Given the description of an element on the screen output the (x, y) to click on. 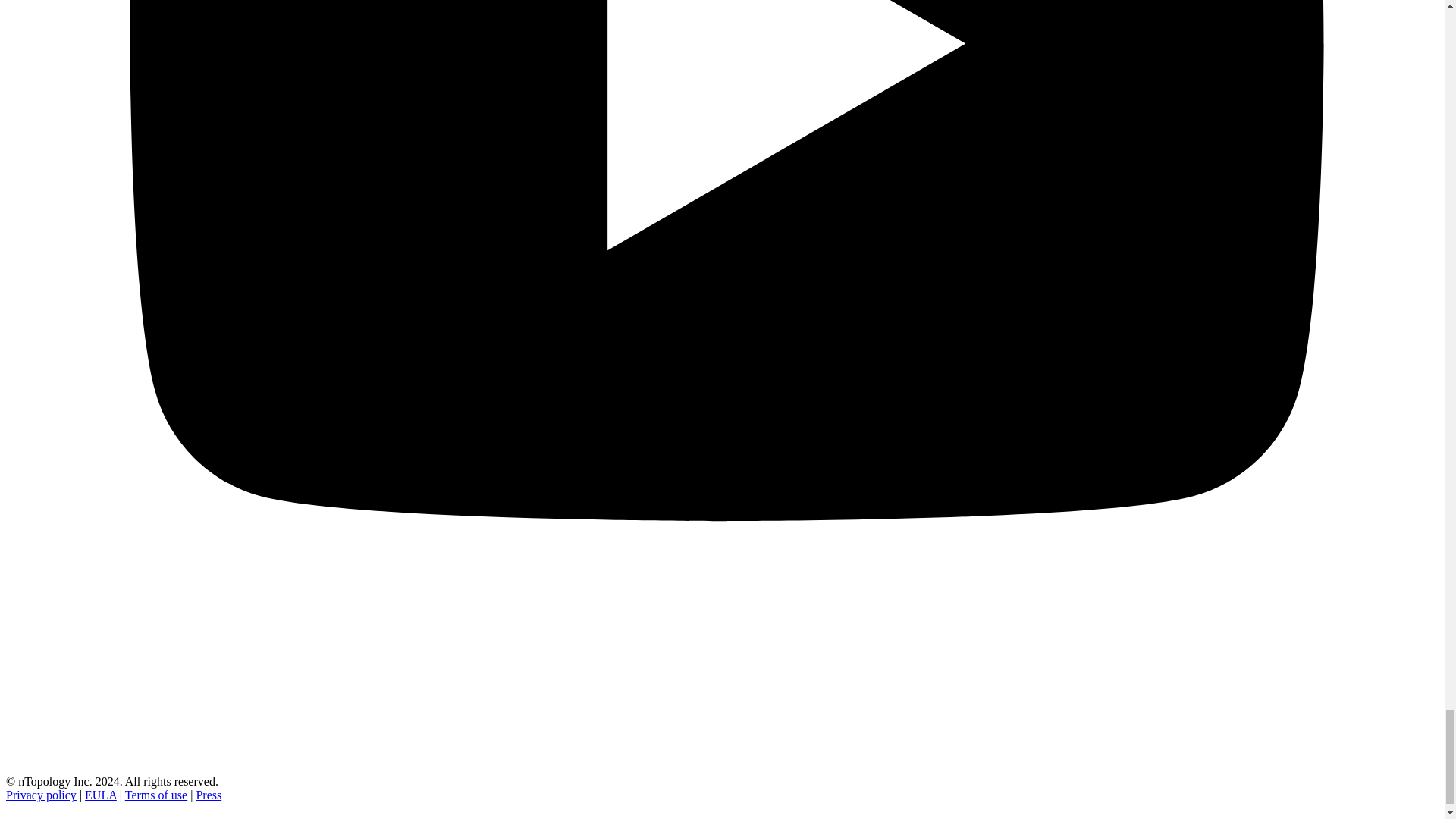
Terms of use (156, 794)
EULA (100, 794)
Press (208, 794)
Privacy policy (41, 794)
